Given the description of an element on the screen output the (x, y) to click on. 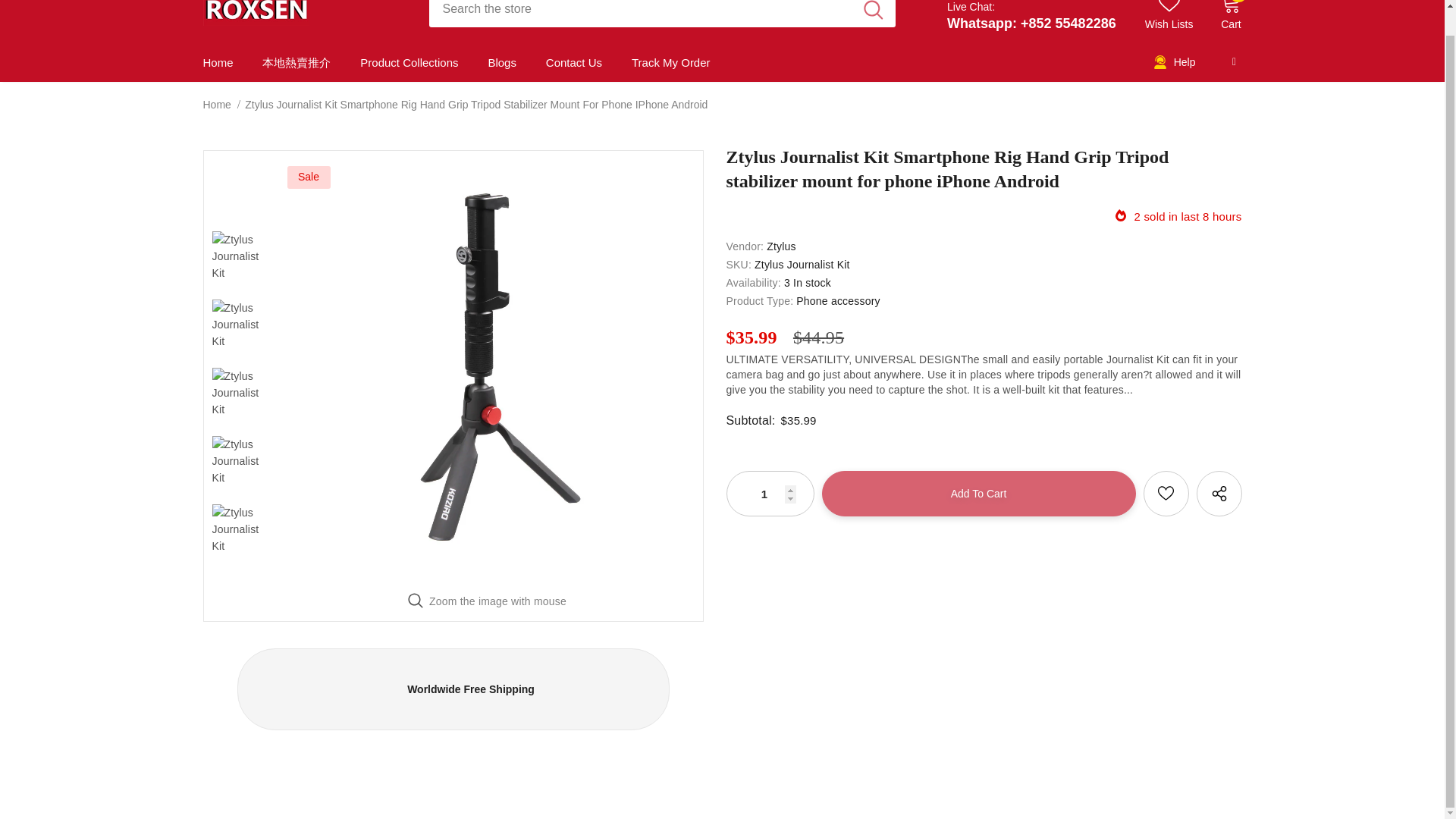
Track My Order (670, 62)
Contact Us (574, 62)
Product Collections (408, 62)
Wish Lists (1168, 15)
Help (1174, 63)
Add to cart (978, 493)
1 (769, 492)
Logo (304, 12)
Home (217, 104)
